Given the description of an element on the screen output the (x, y) to click on. 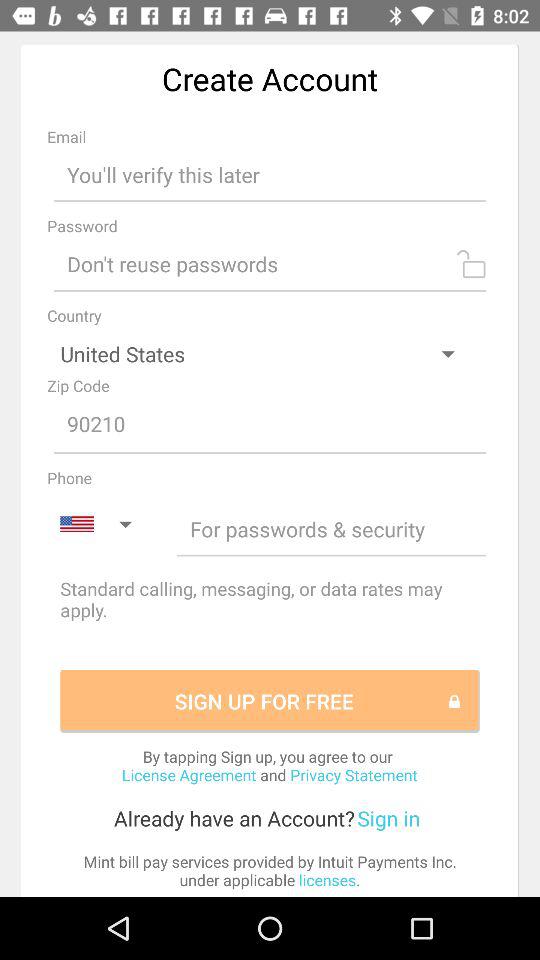
input email (270, 174)
